Given the description of an element on the screen output the (x, y) to click on. 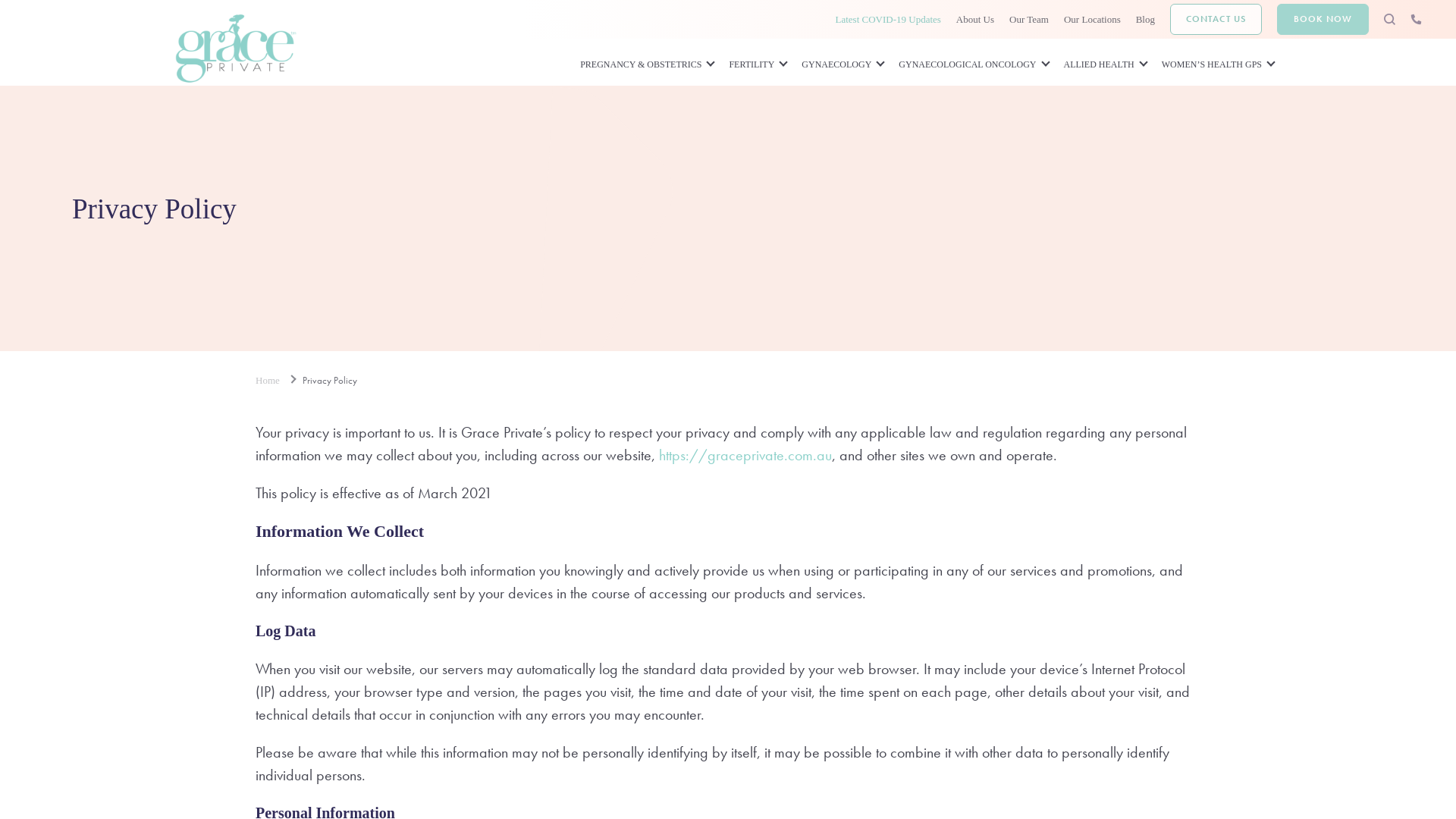
GYNAECOLOGICAL ONCOLOGY Element type: text (973, 64)
Blog Element type: text (1144, 19)
Our Locations Element type: text (1091, 19)
Latest COVID-19 Updates Element type: text (887, 19)
ALLIED HEALTH Element type: text (1105, 64)
GYNAECOLOGY Element type: text (842, 64)
Home Element type: text (276, 379)
Our Team Element type: text (1028, 19)
About Us Element type: text (975, 19)
PREGNANCY & OBSTETRICS Element type: text (646, 64)
https://graceprivate.com.au Element type: text (744, 454)
CONTACT US Element type: text (1215, 18)
BOOK NOW Element type: text (1322, 18)
FERTILITY Element type: text (757, 64)
